Given the description of an element on the screen output the (x, y) to click on. 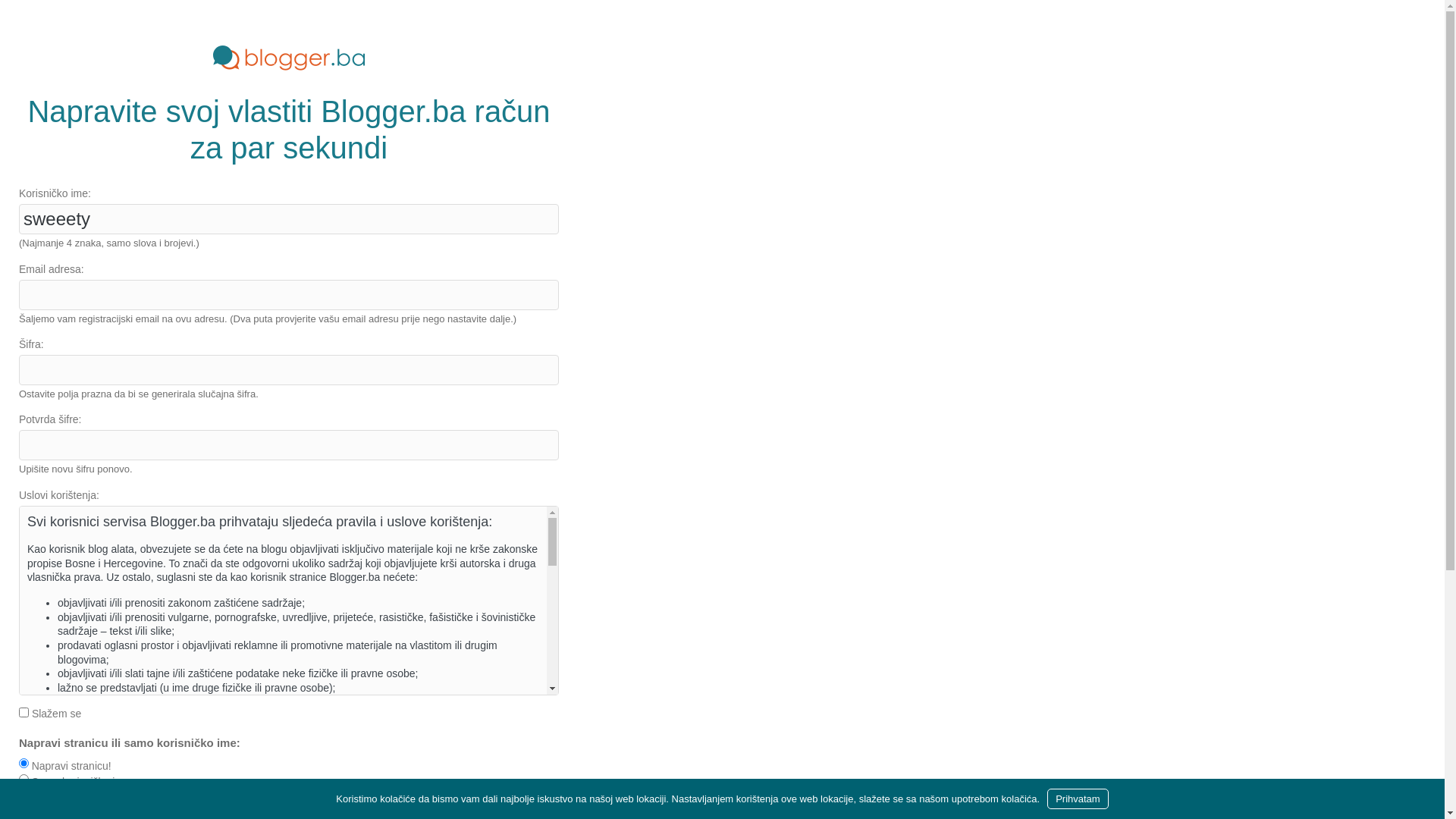
Prihvatam Element type: text (1077, 798)
